Given the description of an element on the screen output the (x, y) to click on. 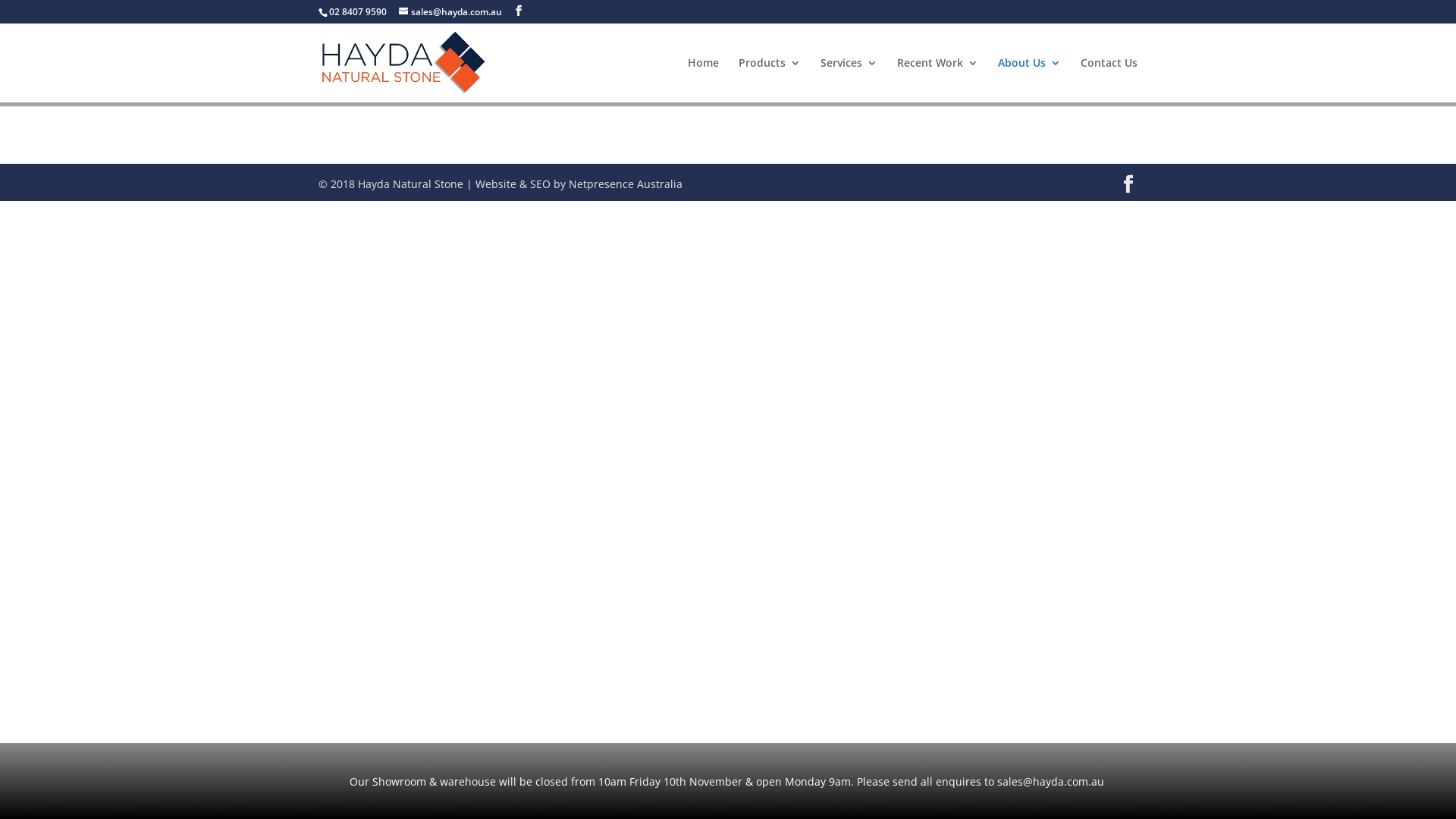
Products Element type: text (769, 79)
Contact Us Element type: text (1108, 79)
Home Element type: text (702, 79)
02 8407 9590 Element type: text (357, 11)
Recent Work Element type: text (937, 79)
Services Element type: text (848, 79)
About Us Element type: text (1028, 79)
sales@hayda.com.au Element type: text (450, 11)
